Given the description of an element on the screen output the (x, y) to click on. 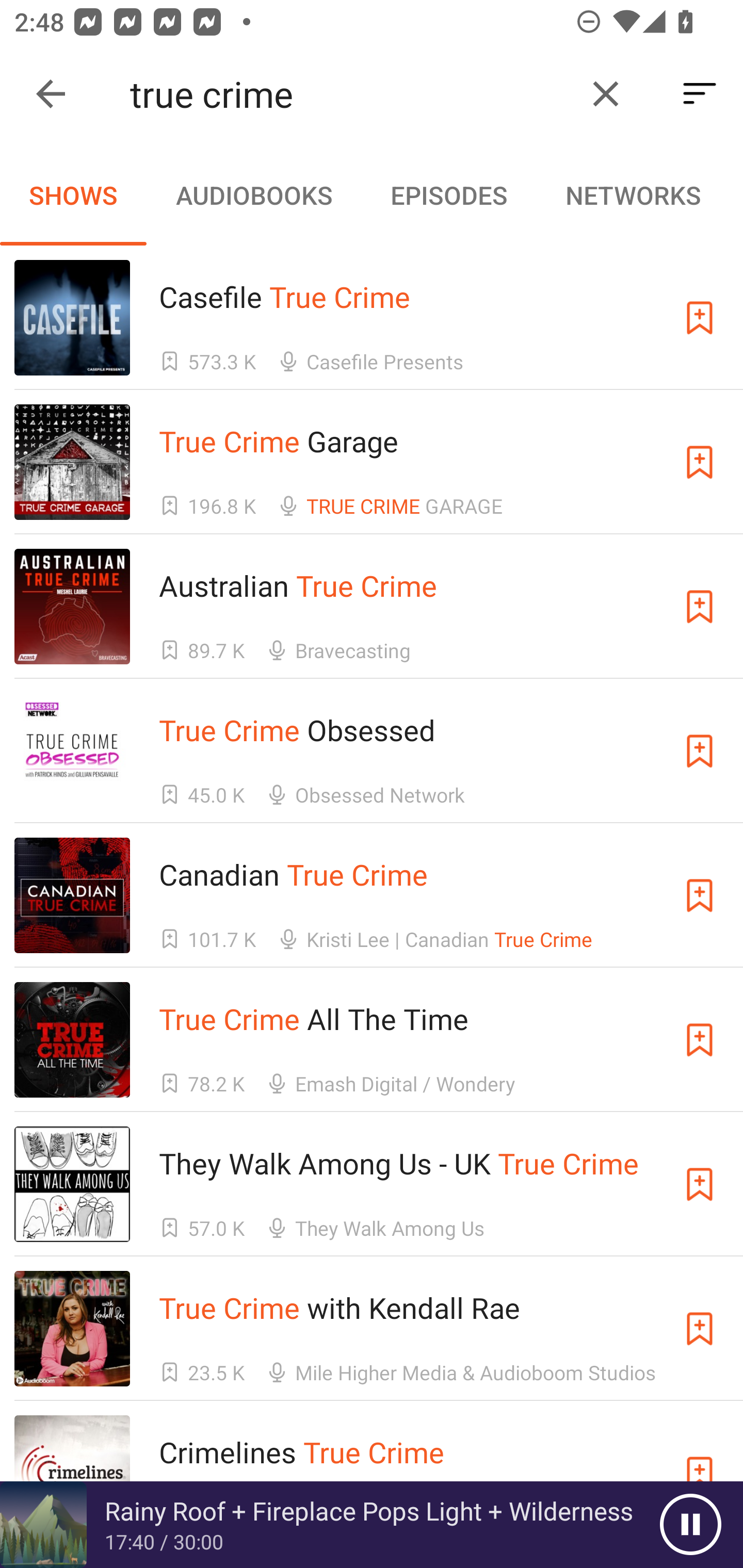
Collapse (50, 93)
Clear query (605, 93)
Sort By (699, 93)
true crime (349, 94)
SHOWS (73, 195)
AUDIOBOOKS (253, 195)
EPISODES (448, 195)
NETWORKS (632, 195)
Subscribe (699, 317)
Subscribe (699, 462)
Subscribe (699, 606)
Subscribe (699, 751)
Subscribe (699, 895)
Subscribe (699, 1039)
Subscribe (699, 1183)
Subscribe (699, 1328)
Pause (690, 1524)
